Given the description of an element on the screen output the (x, y) to click on. 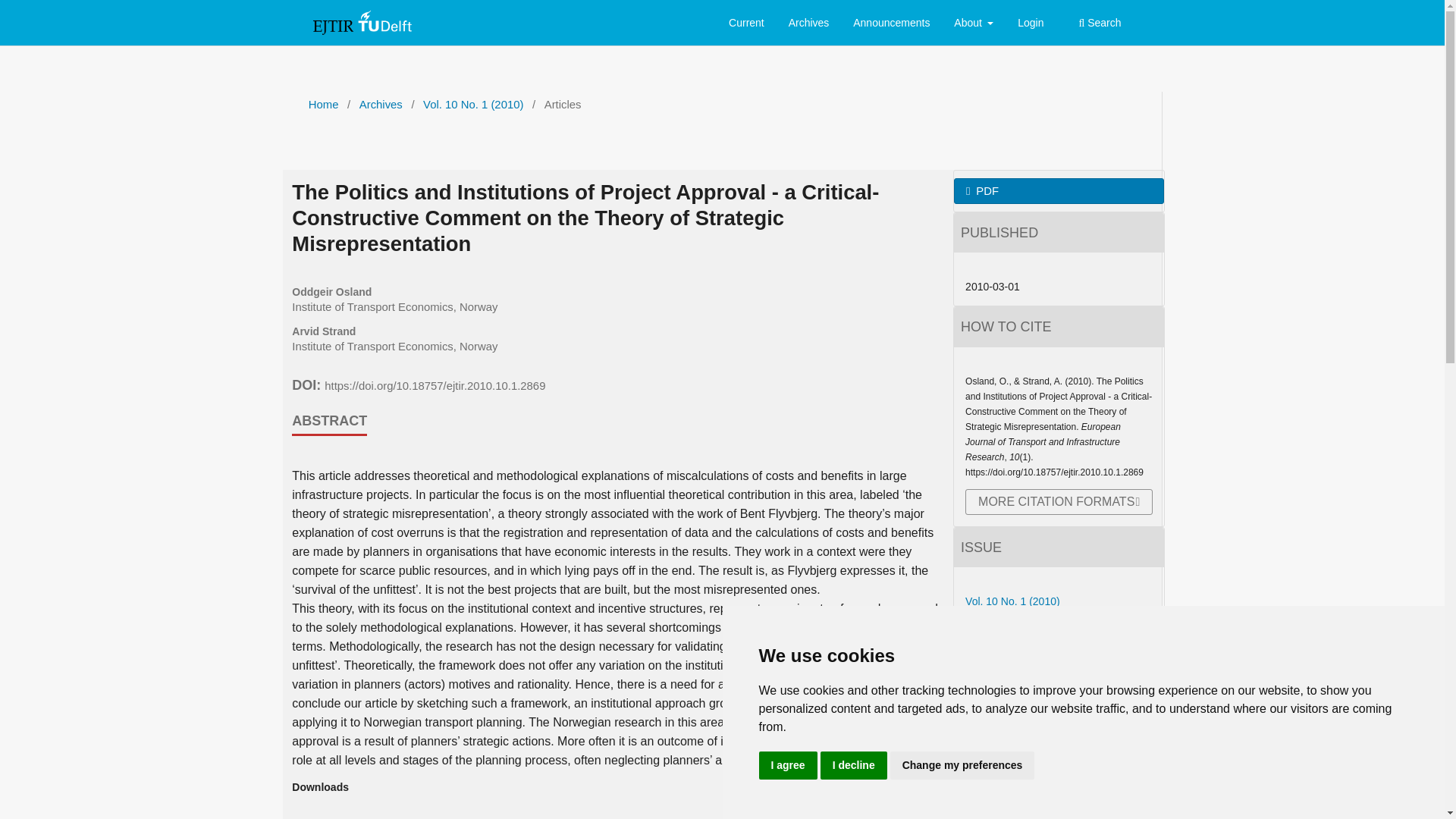
I decline (853, 765)
Home (323, 104)
Archives (381, 104)
PDF (1058, 190)
Change my preferences (962, 765)
I agree (787, 765)
Current (746, 24)
About (973, 24)
Archives (808, 24)
MORE CITATION FORMATS (1058, 501)
Search (1099, 24)
Announcements (890, 24)
Login (1029, 24)
